Given the description of an element on the screen output the (x, y) to click on. 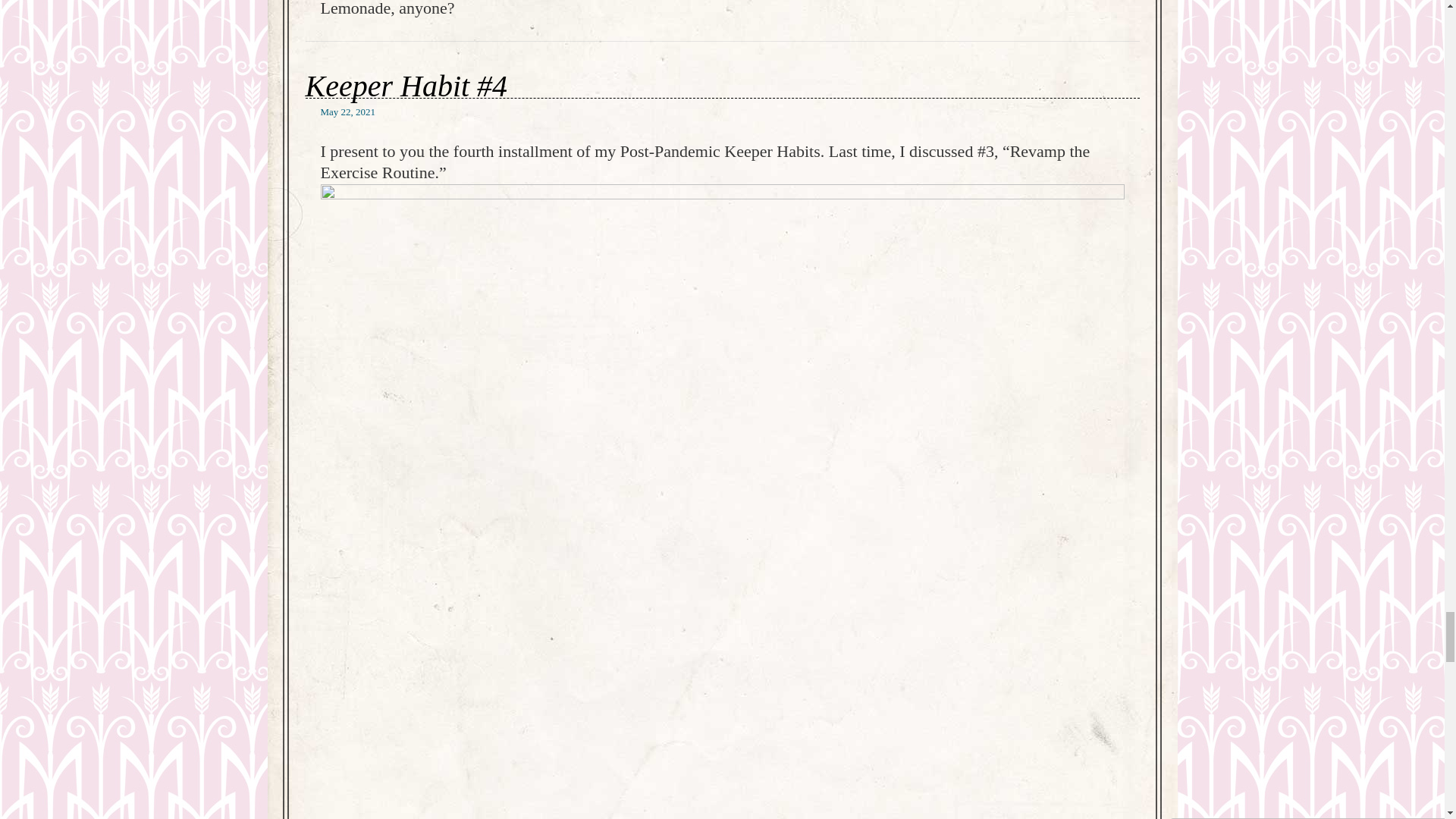
3:00 am (347, 111)
